Given the description of an element on the screen output the (x, y) to click on. 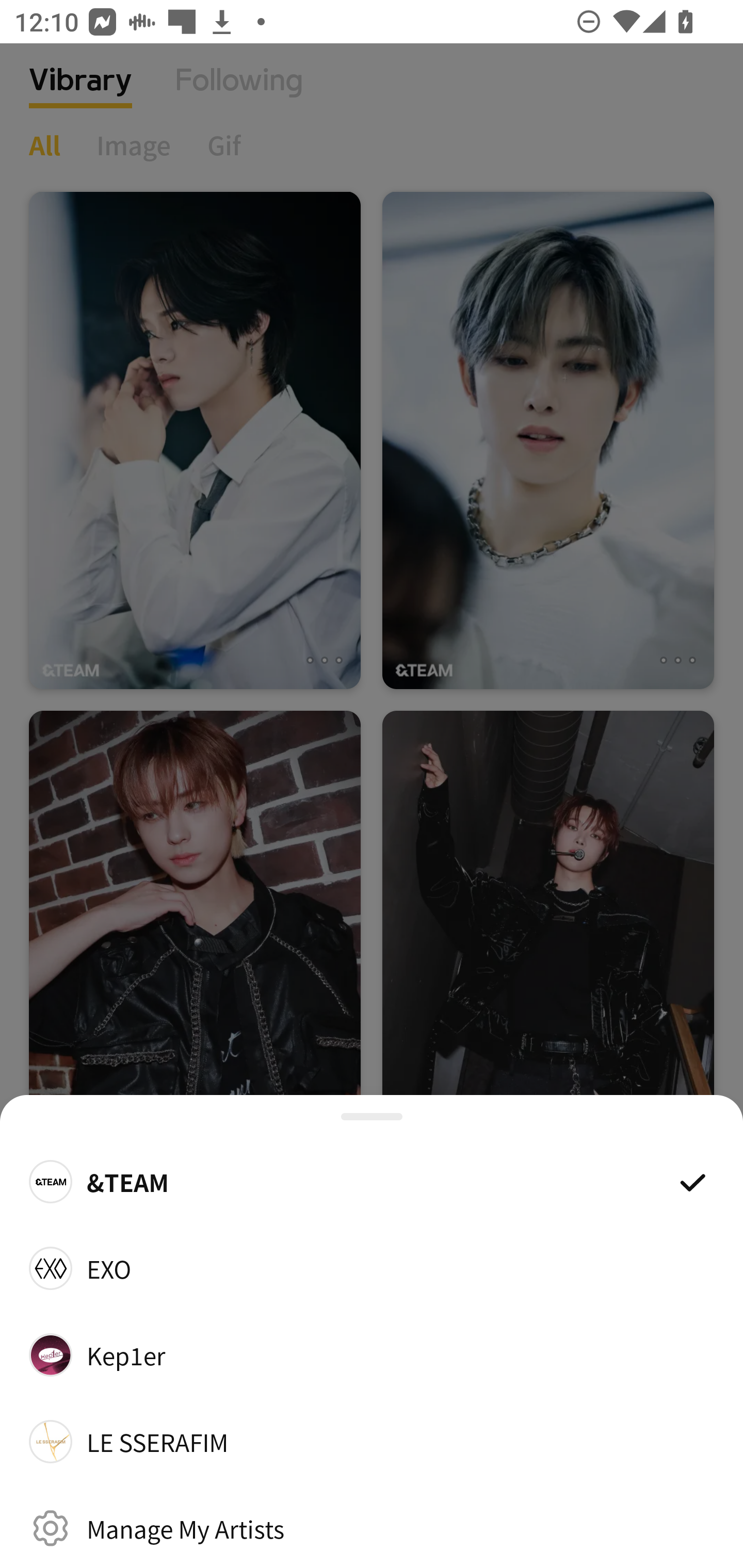
&TEAM (371, 1181)
EXO (371, 1268)
Kep1er (371, 1354)
LE SSERAFIM (371, 1441)
Manage My Artists (371, 1527)
